Given the description of an element on the screen output the (x, y) to click on. 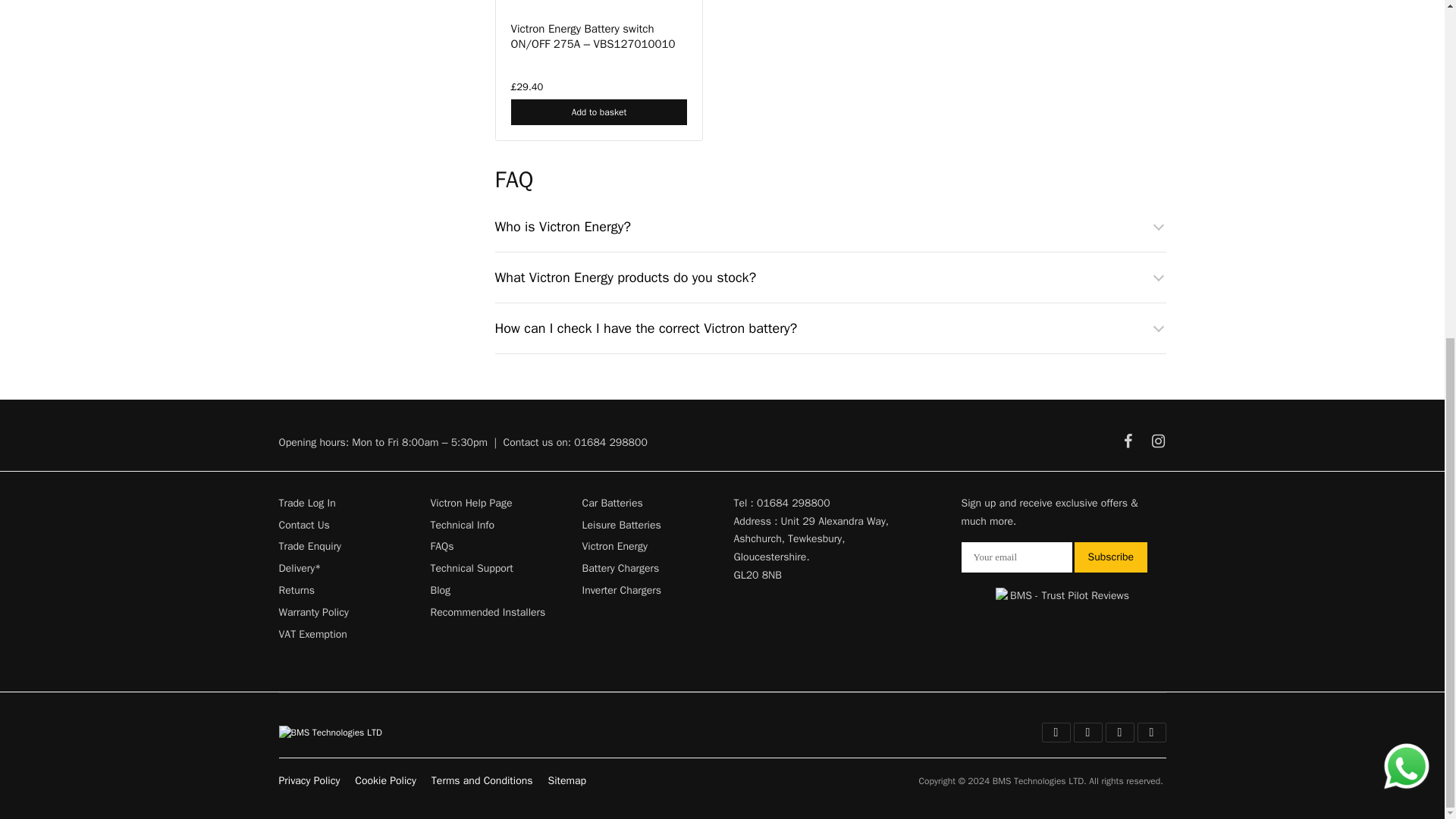
BMS Technologies LTD (330, 731)
